Given the description of an element on the screen output the (x, y) to click on. 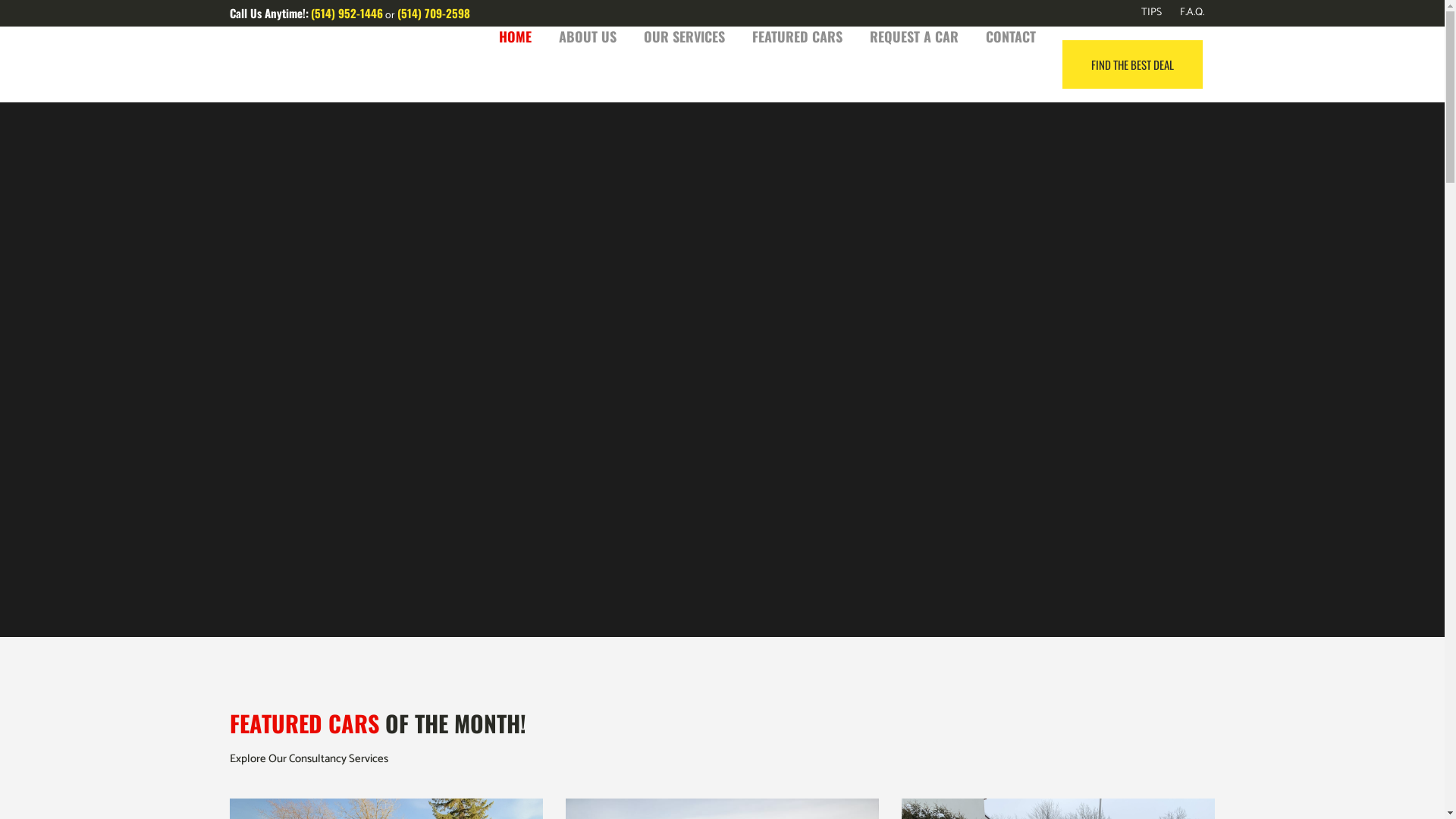
F.A.Q. Element type: text (1182, 12)
ABOUT US Element type: text (586, 36)
OUR SERVICES Element type: text (683, 36)
CONTACT Element type: text (1010, 36)
FEATURED CARS Element type: text (797, 36)
HOME Element type: text (515, 36)
FIND THE BEST DEAL Element type: text (1131, 64)
REQUEST A CAR Element type: text (913, 36)
TIPS Element type: text (1141, 12)
